Given the description of an element on the screen output the (x, y) to click on. 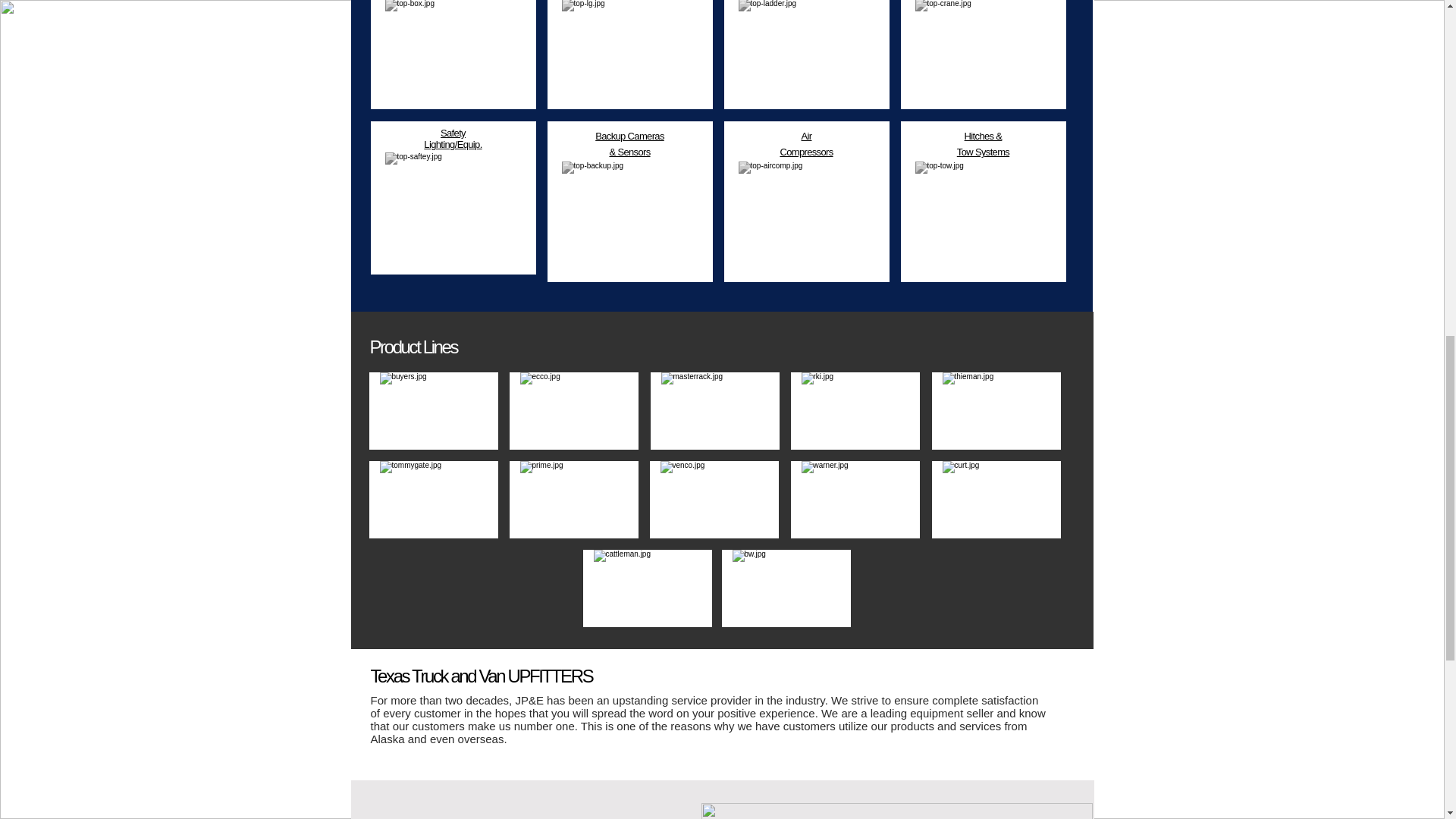
footer.jpg (896, 811)
